Given the description of an element on the screen output the (x, y) to click on. 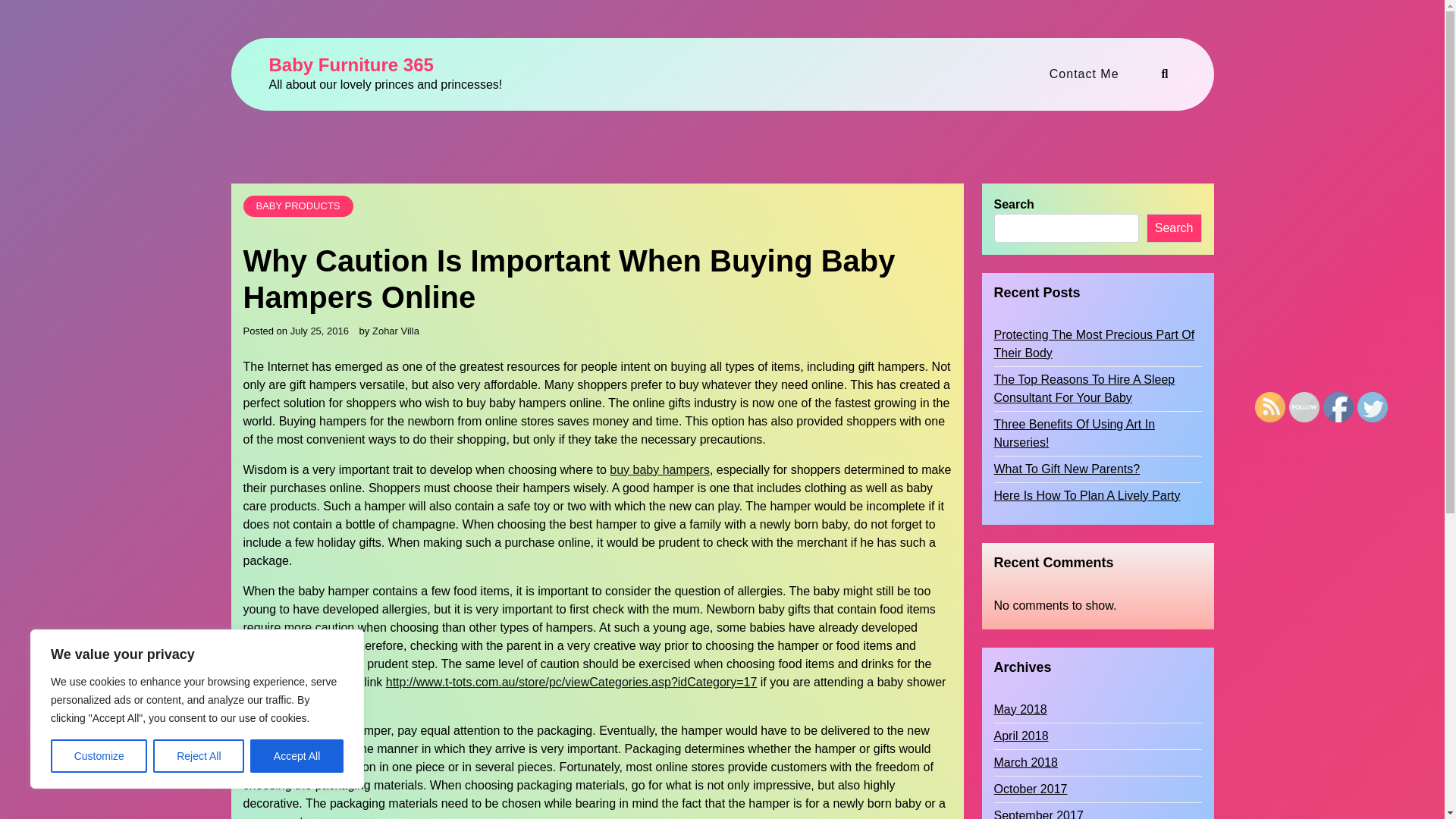
buy baby hampers (660, 470)
The Top Reasons To Hire A Sleep Consultant For Your Baby (1096, 389)
July 25, 2016 (319, 330)
Baby Furniture 365 (349, 65)
Search (1174, 227)
Reject All (198, 756)
What To Gift New Parents? (1066, 469)
Protecting The Most Precious Part Of Their Body (1096, 343)
Three Benefits Of Using Art In Nurseries! (1096, 433)
Twitter (1371, 406)
RSS (1270, 406)
Accept All (296, 756)
BABY PRODUCTS (297, 206)
Zohar Villa (395, 330)
Search (1026, 409)
